Given the description of an element on the screen output the (x, y) to click on. 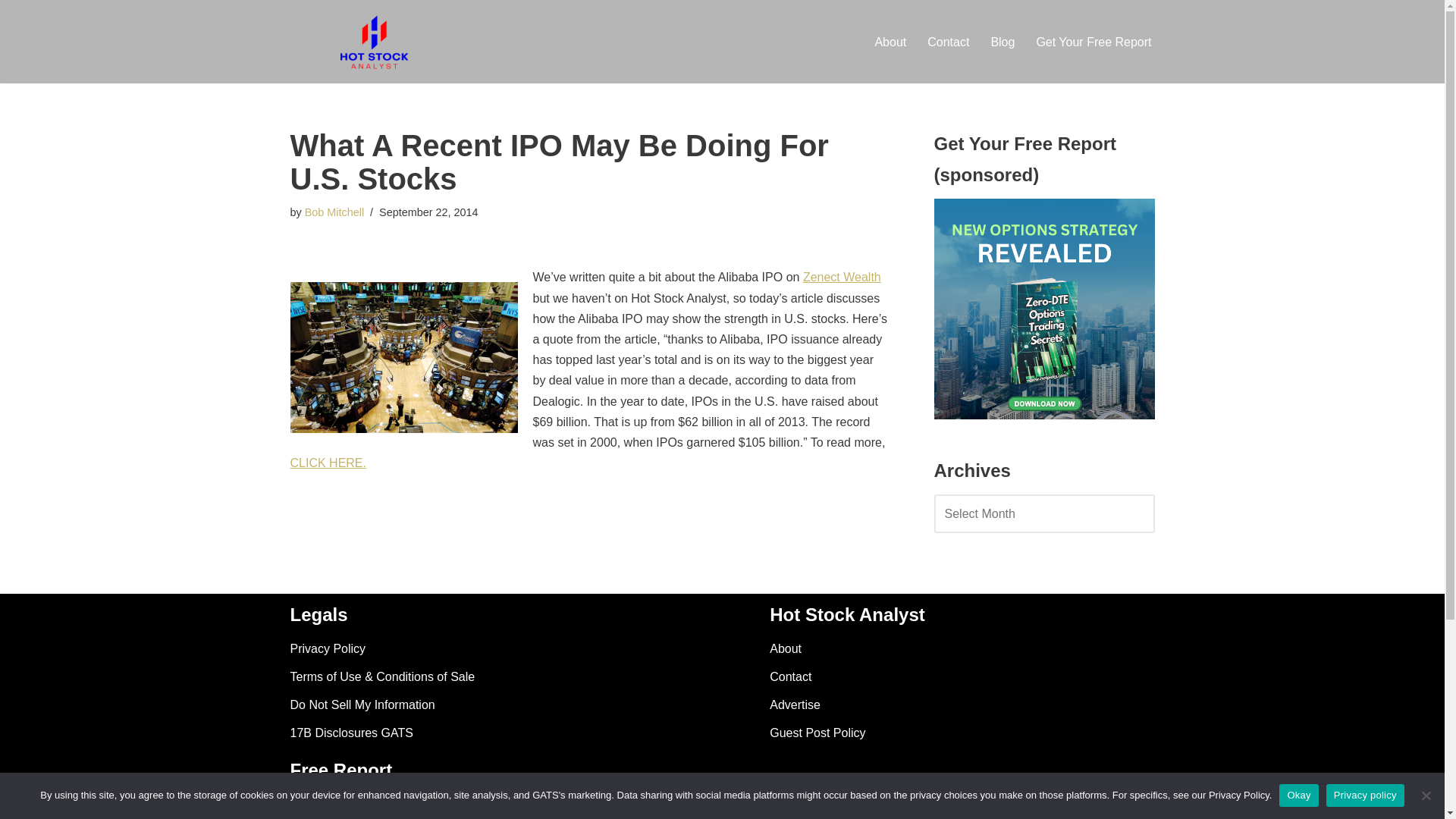
Posts by Bob Mitchell (334, 212)
Get Your Free Report (1093, 41)
17B Disclosures GATS (350, 732)
Zenect Wealth (841, 277)
Bob Mitchell (334, 212)
CLICK HERE. (327, 462)
Guest Post Policy (817, 732)
Free Report (402, 806)
Privacy Policy (327, 648)
About (786, 648)
